Given the description of an element on the screen output the (x, y) to click on. 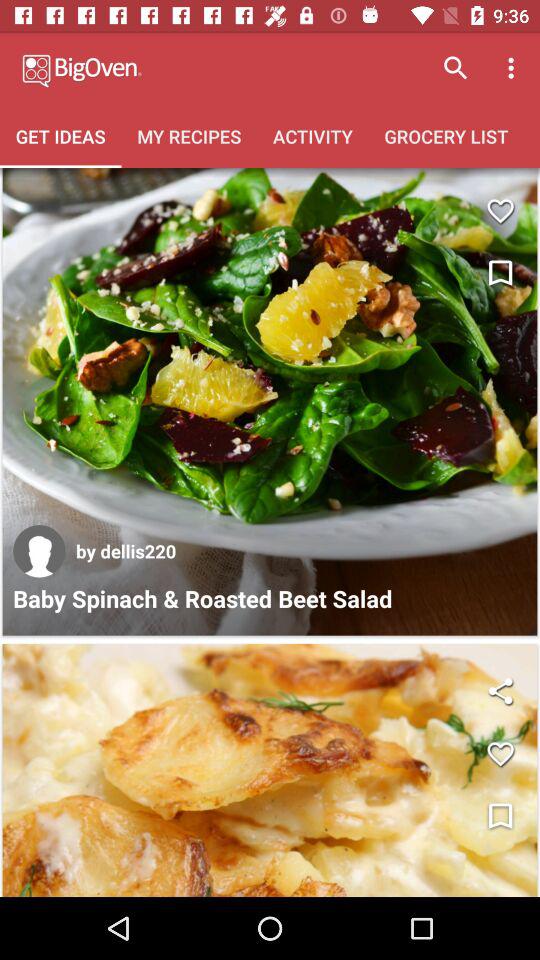
bookmark (500, 273)
